Given the description of an element on the screen output the (x, y) to click on. 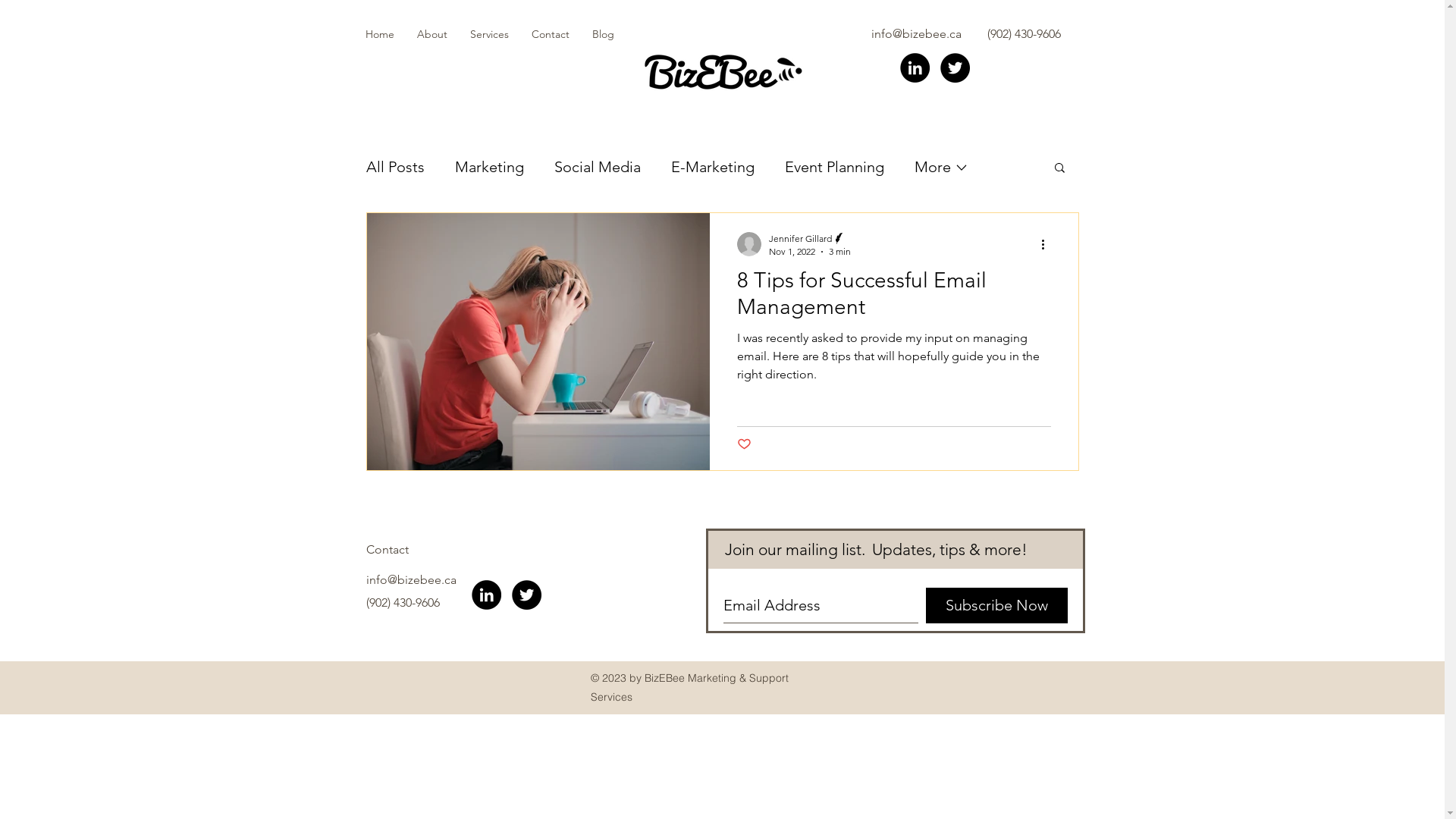
Services Element type: text (488, 33)
E-Marketing Element type: text (711, 166)
info@bizebee.ca Element type: text (410, 579)
Home Element type: text (378, 33)
info@bizebee.ca Element type: text (916, 33)
Post not marked as liked Element type: text (744, 444)
8 Tips for Successful Email Management Element type: text (894, 297)
All Posts Element type: text (394, 166)
Subscribe Now Element type: text (995, 605)
About Element type: text (431, 33)
Blog Element type: text (602, 33)
Social Media Element type: text (596, 166)
Event Planning Element type: text (833, 166)
Contact Element type: text (550, 33)
Marketing Element type: text (489, 166)
